Given the description of an element on the screen output the (x, y) to click on. 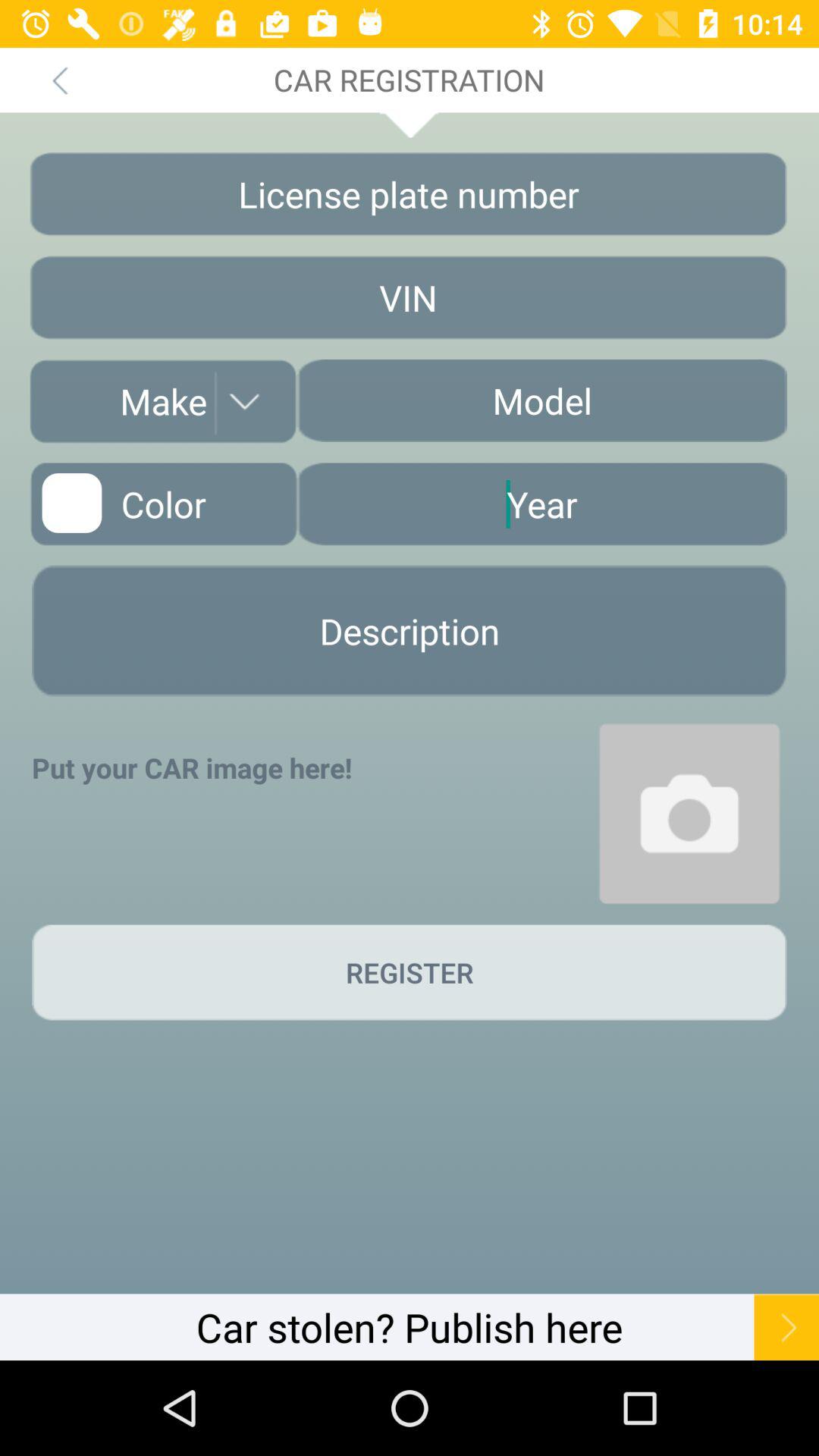
enter year (541, 503)
